Given the description of an element on the screen output the (x, y) to click on. 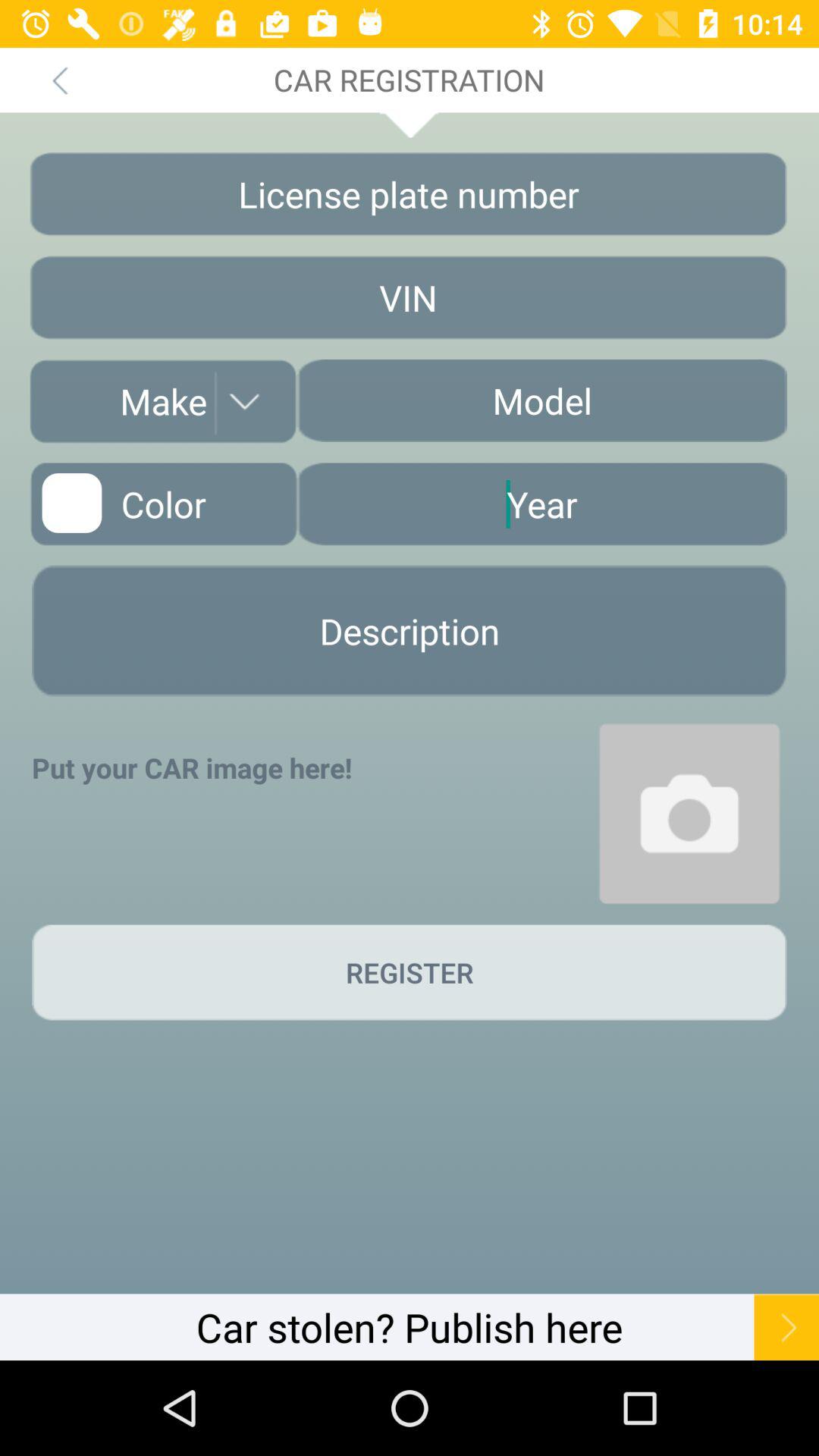
enter year (541, 503)
